Given the description of an element on the screen output the (x, y) to click on. 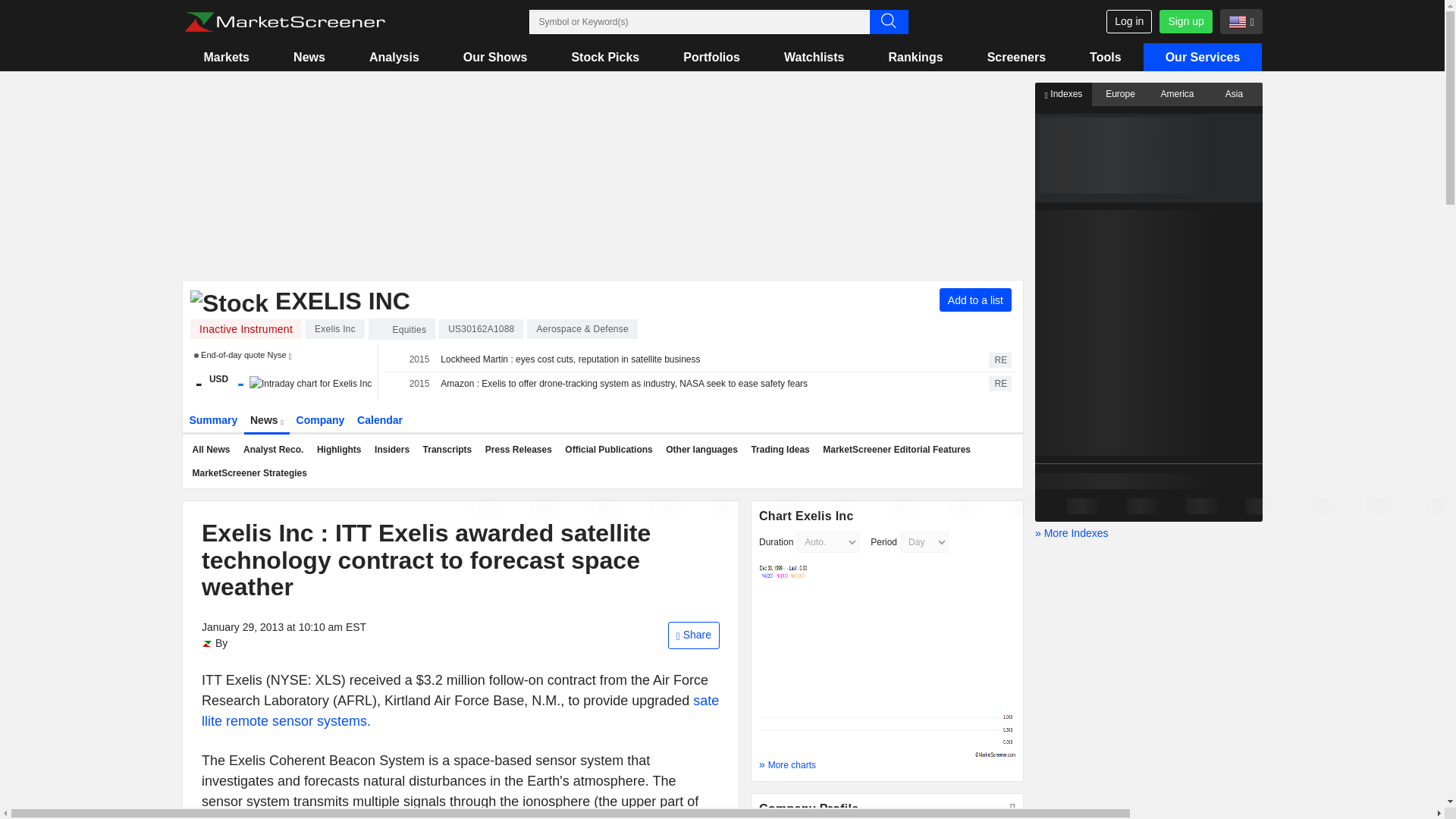
Sign up (1184, 21)
Markets (226, 57)
Log in (1128, 21)
Advanced search (888, 21)
Marketscreener: stock market and financial news (284, 21)
